Given the description of an element on the screen output the (x, y) to click on. 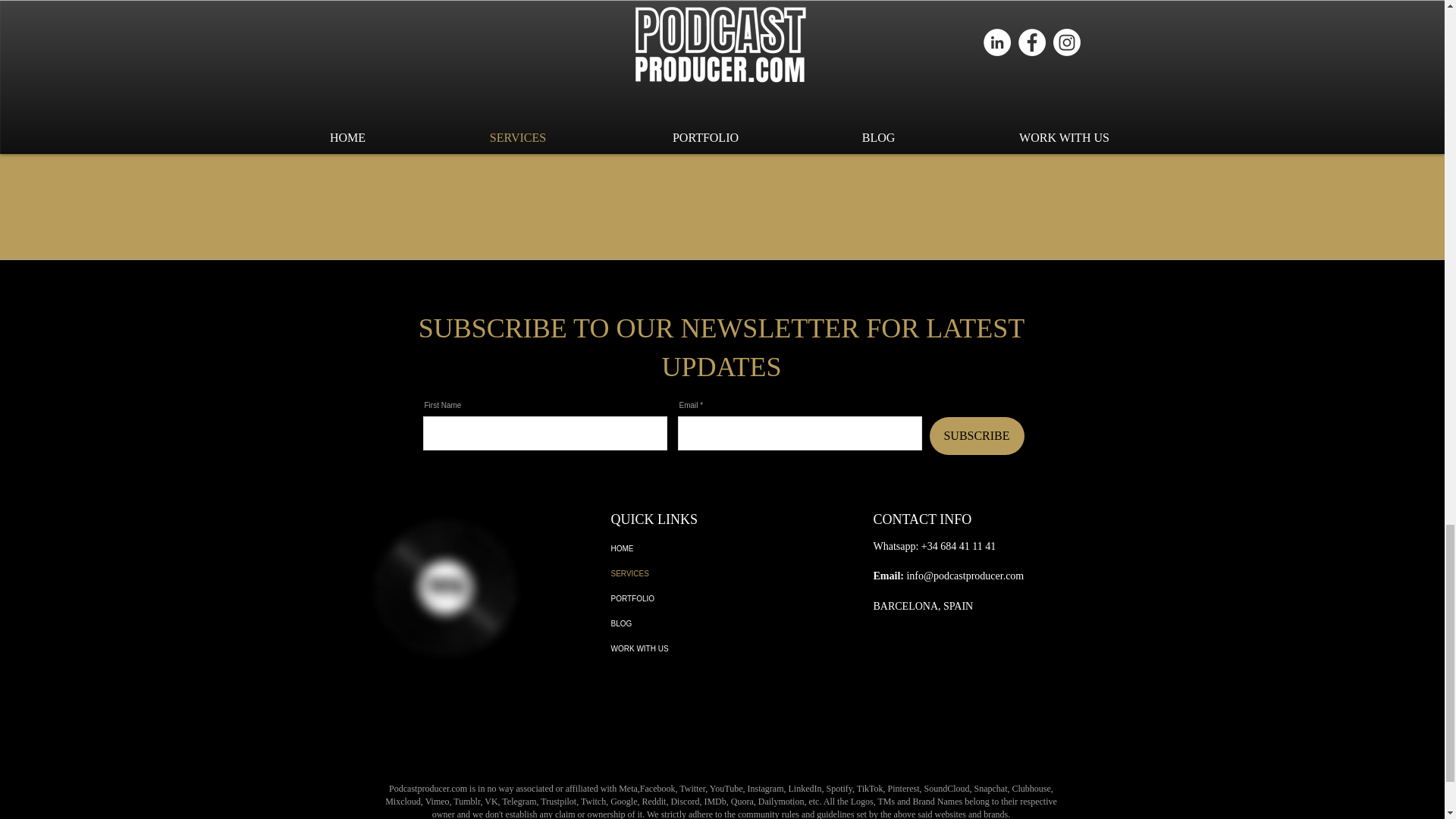
WORK WITH US (700, 648)
SERVICES (700, 573)
SUBSCRIBE (977, 435)
PORTFOLIO (700, 598)
HOME (700, 548)
BLOG (700, 623)
